Given the description of an element on the screen output the (x, y) to click on. 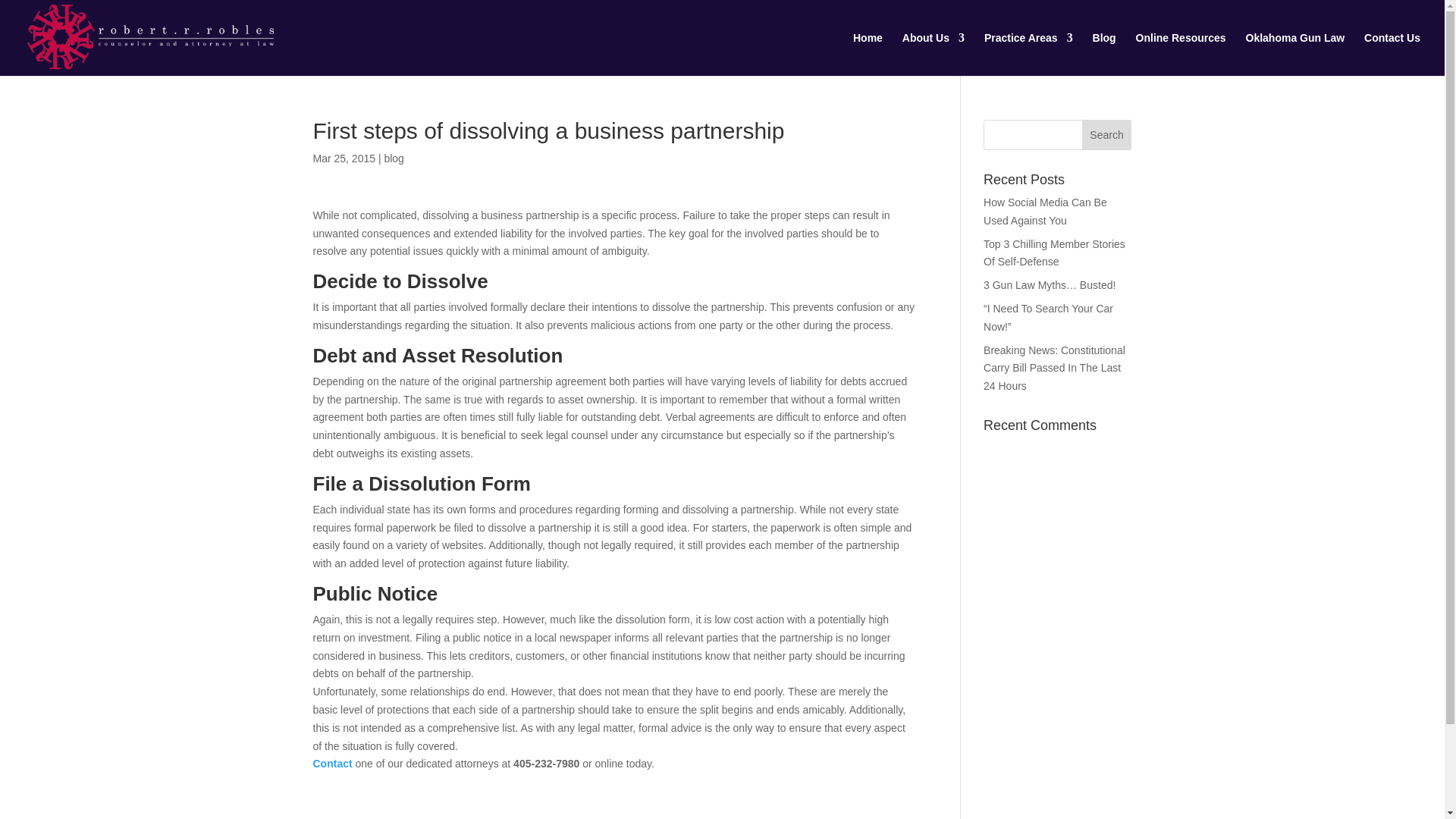
Home (867, 54)
About Us (932, 54)
Contact Us (1392, 54)
Oklahoma Gun Law (1293, 54)
Blog (1104, 54)
Online Resources (1180, 54)
Practice Areas (1028, 54)
Contact Us (332, 763)
Search (1106, 134)
